Given the description of an element on the screen output the (x, y) to click on. 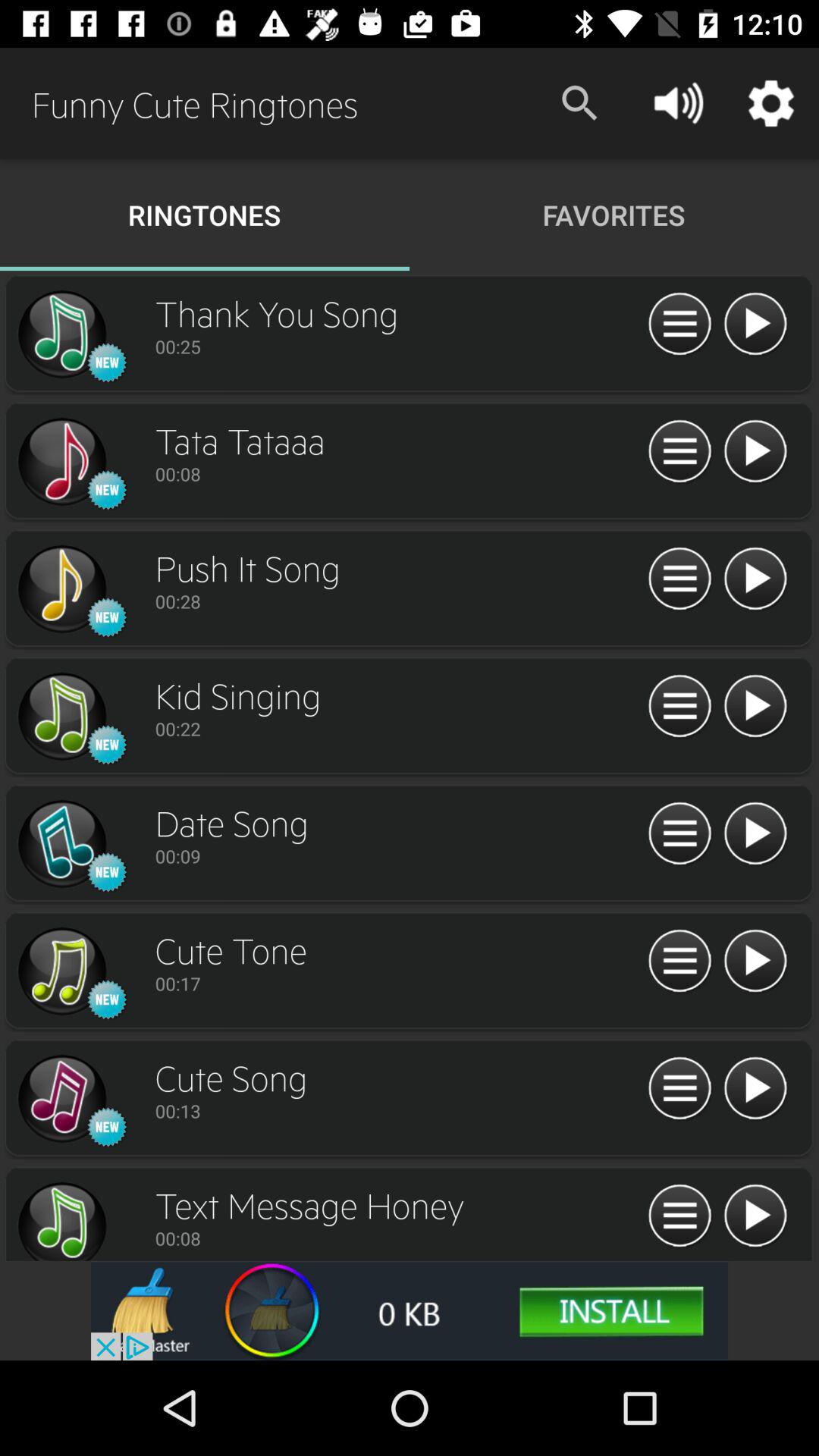
select more options (679, 451)
